Given the description of an element on the screen output the (x, y) to click on. 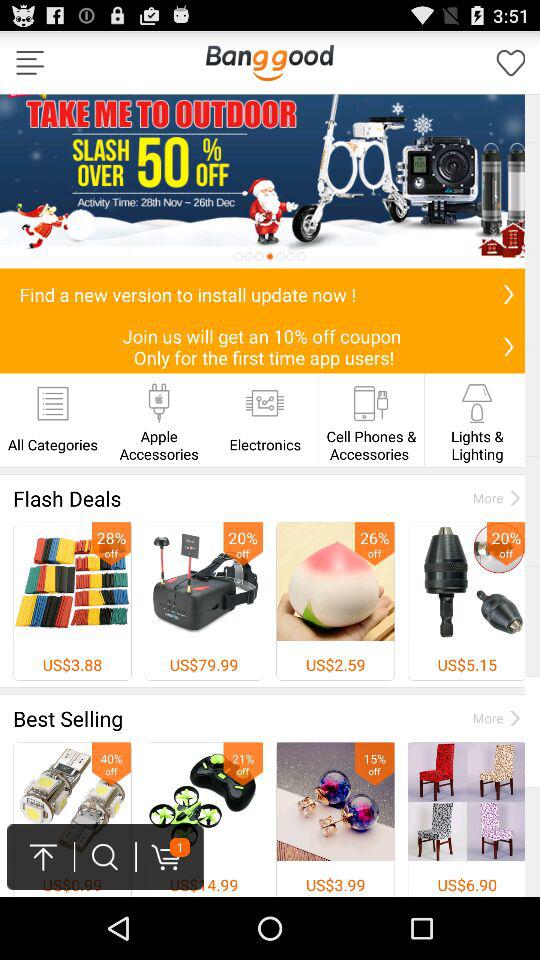
forvate simples (511, 62)
